Given the description of an element on the screen output the (x, y) to click on. 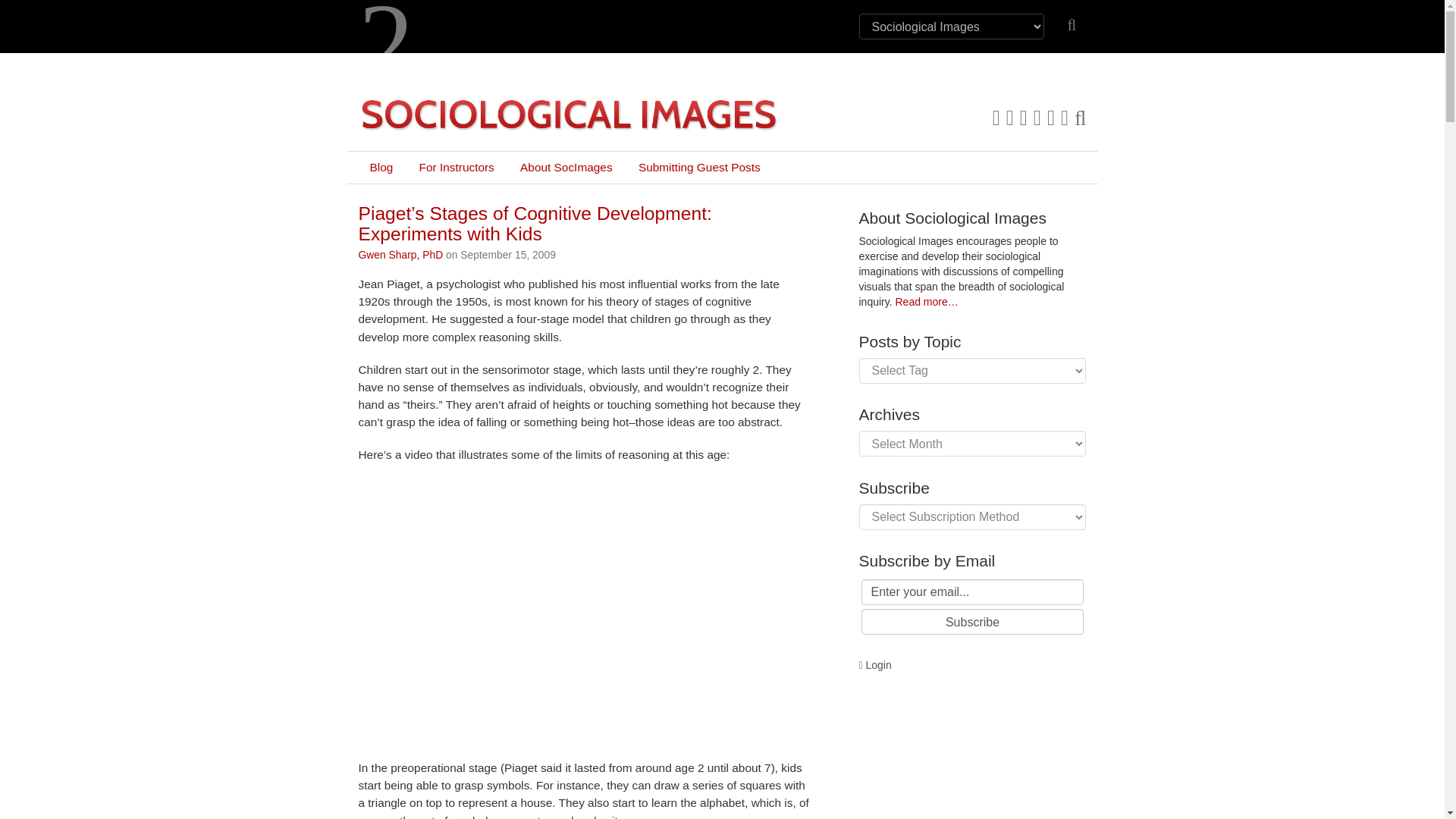
About SocImages (566, 167)
Submitting Guest Posts (699, 167)
Submitting Guest Posts (699, 167)
Subscribe (972, 621)
Blog (381, 167)
Enter your email... (972, 592)
For Instructors (456, 167)
Blog (381, 167)
Login (875, 664)
Gwen Sharp, PhD (400, 254)
